Given the description of an element on the screen output the (x, y) to click on. 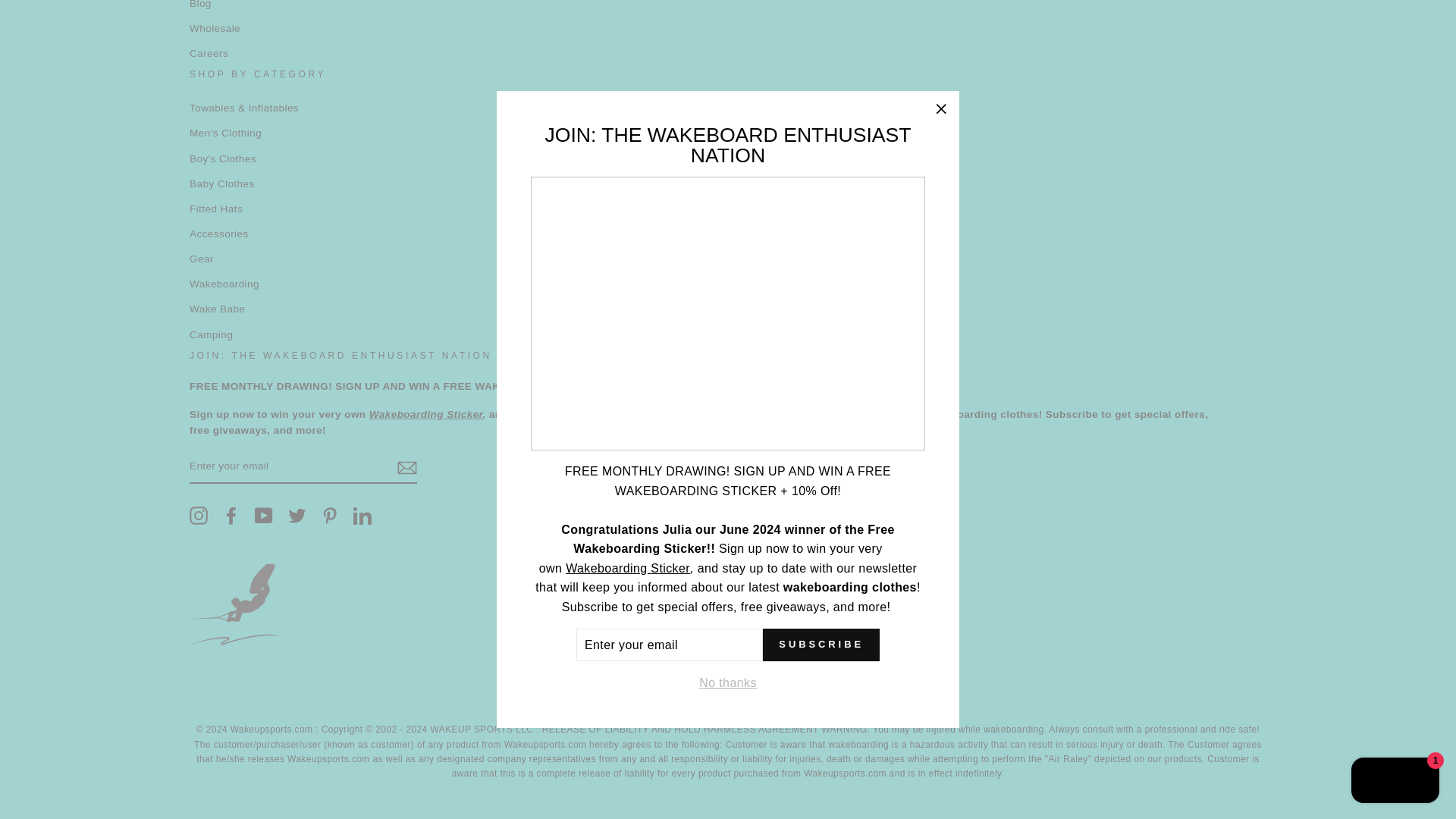
Apple Pay (592, 696)
Google Pay (746, 696)
PayPal (823, 696)
Amazon (514, 696)
Discover (670, 696)
American Express (554, 696)
Mastercard (785, 696)
Meta Pay (708, 696)
Diners Club (631, 696)
